Given the description of an element on the screen output the (x, y) to click on. 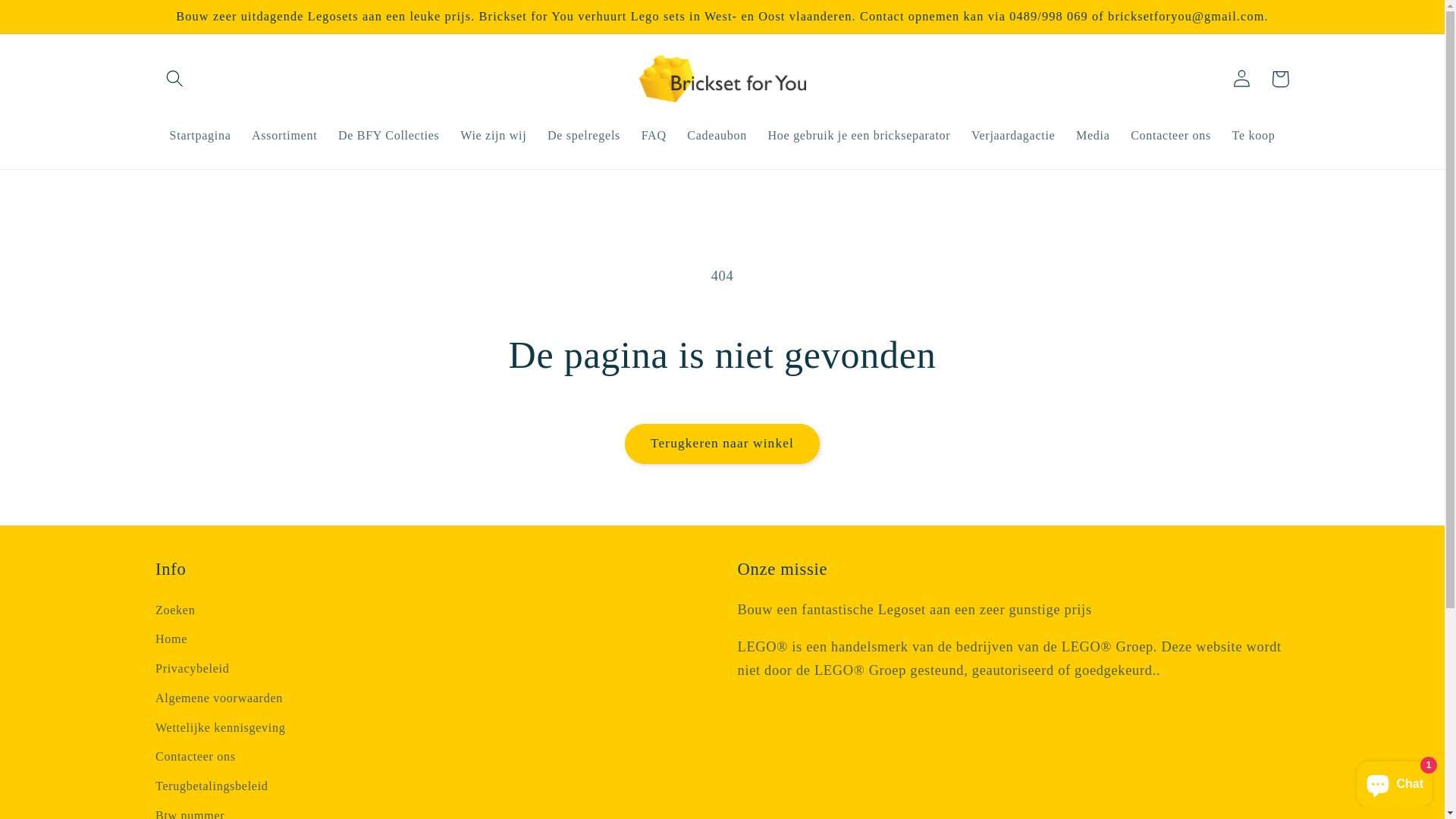
Te koop Element type: text (1253, 135)
Assortiment Element type: text (284, 135)
Cadeaubon Element type: text (717, 135)
Zoeken Element type: text (174, 611)
Hoe gebruik je een brickseparator Element type: text (858, 135)
Startpagina Element type: text (200, 135)
Inloggen Element type: text (1242, 78)
De BFY Collecties Element type: text (388, 135)
Terugbetalingsbeleid Element type: text (211, 785)
Media Element type: text (1092, 135)
Verjaardagactie Element type: text (1012, 135)
Algemene voorwaarden Element type: text (218, 697)
Terugkeren naar winkel Element type: text (722, 443)
Onlinewinkel-chat van Shopify Element type: hover (1394, 780)
Wie zijn wij Element type: text (492, 135)
Privacybeleid Element type: text (192, 668)
Wettelijke kennisgeving Element type: text (220, 727)
De spelregels Element type: text (583, 135)
Contacteer ons Element type: text (1170, 135)
FAQ Element type: text (653, 135)
Home Element type: text (171, 639)
Legohuurmandje Element type: text (1280, 78)
Contacteer ons Element type: text (195, 756)
